Given the description of an element on the screen output the (x, y) to click on. 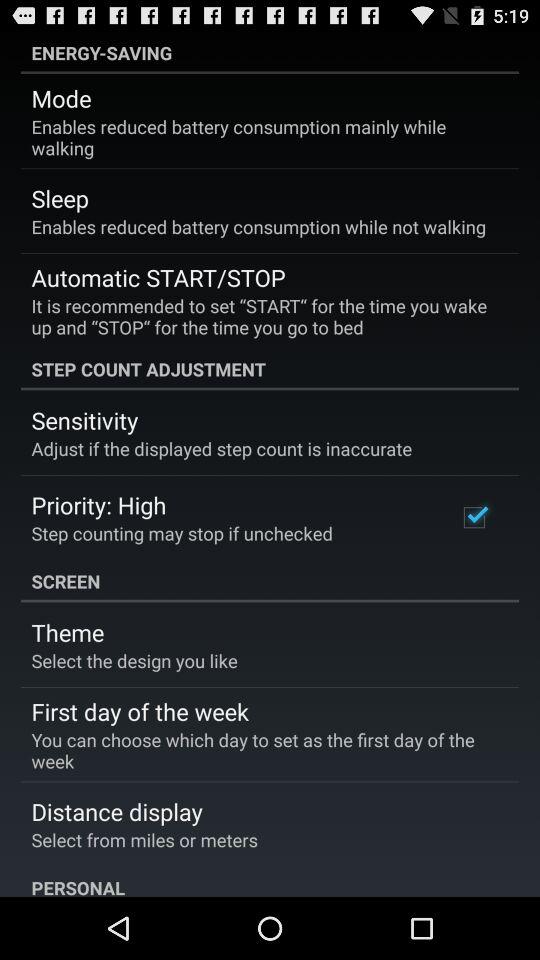
click icon above select the design (67, 632)
